Given the description of an element on the screen output the (x, y) to click on. 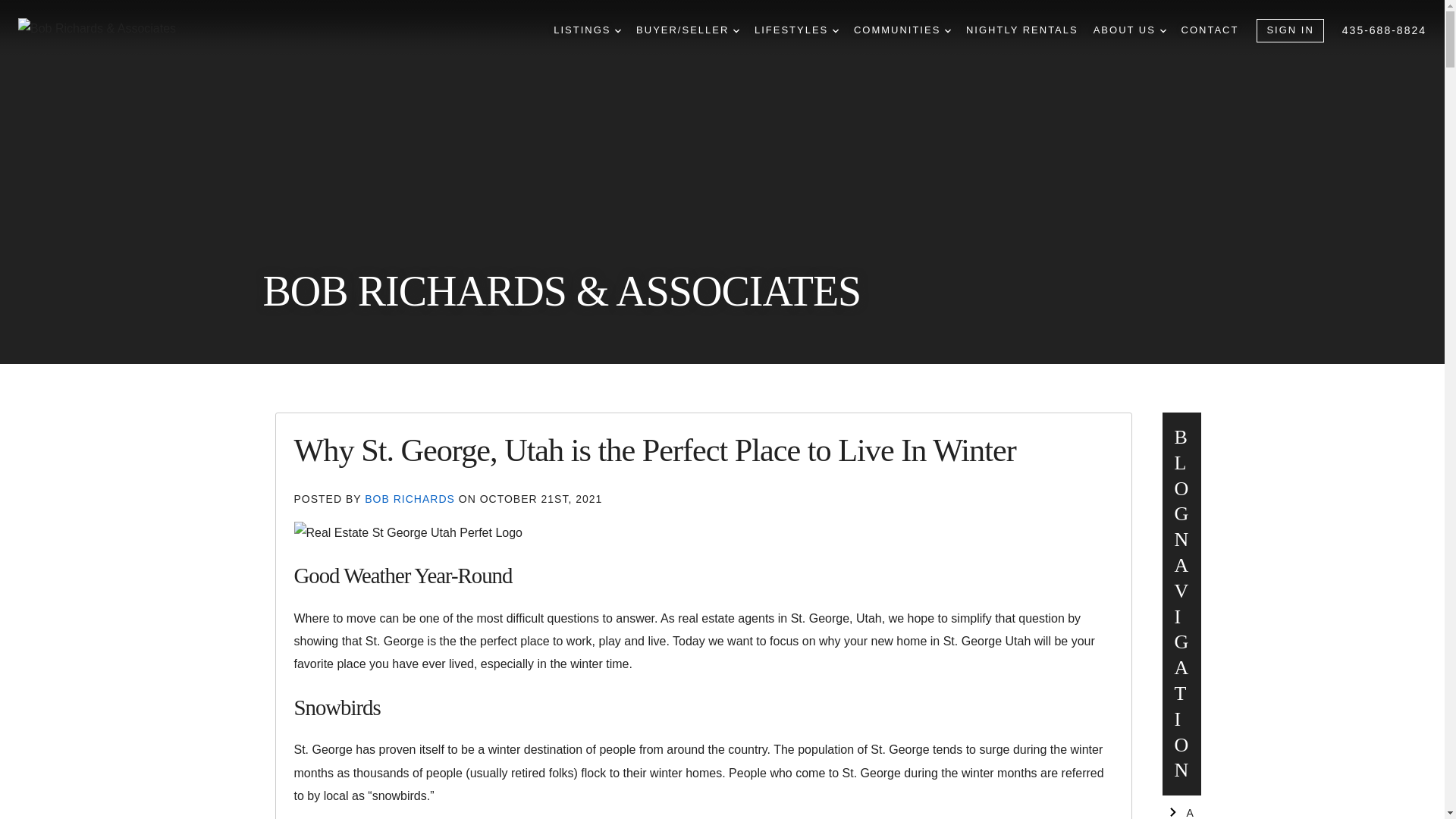
DROPDOWN ARROW (947, 30)
LISTINGS DROPDOWN ARROW (587, 30)
NIGHTLY RENTALS (1022, 30)
COMMUNITIES DROPDOWN ARROW (901, 30)
DROPDOWN ARROW (835, 30)
LIFESTYLES DROPDOWN ARROW (796, 30)
DROPDOWN ARROW (1163, 30)
CONTACT (1209, 30)
Nightly Rentals (1022, 30)
ABOUT US DROPDOWN ARROW (1129, 30)
DROPDOWN ARROW (617, 30)
DROPDOWN ARROW (736, 30)
